Given the description of an element on the screen output the (x, y) to click on. 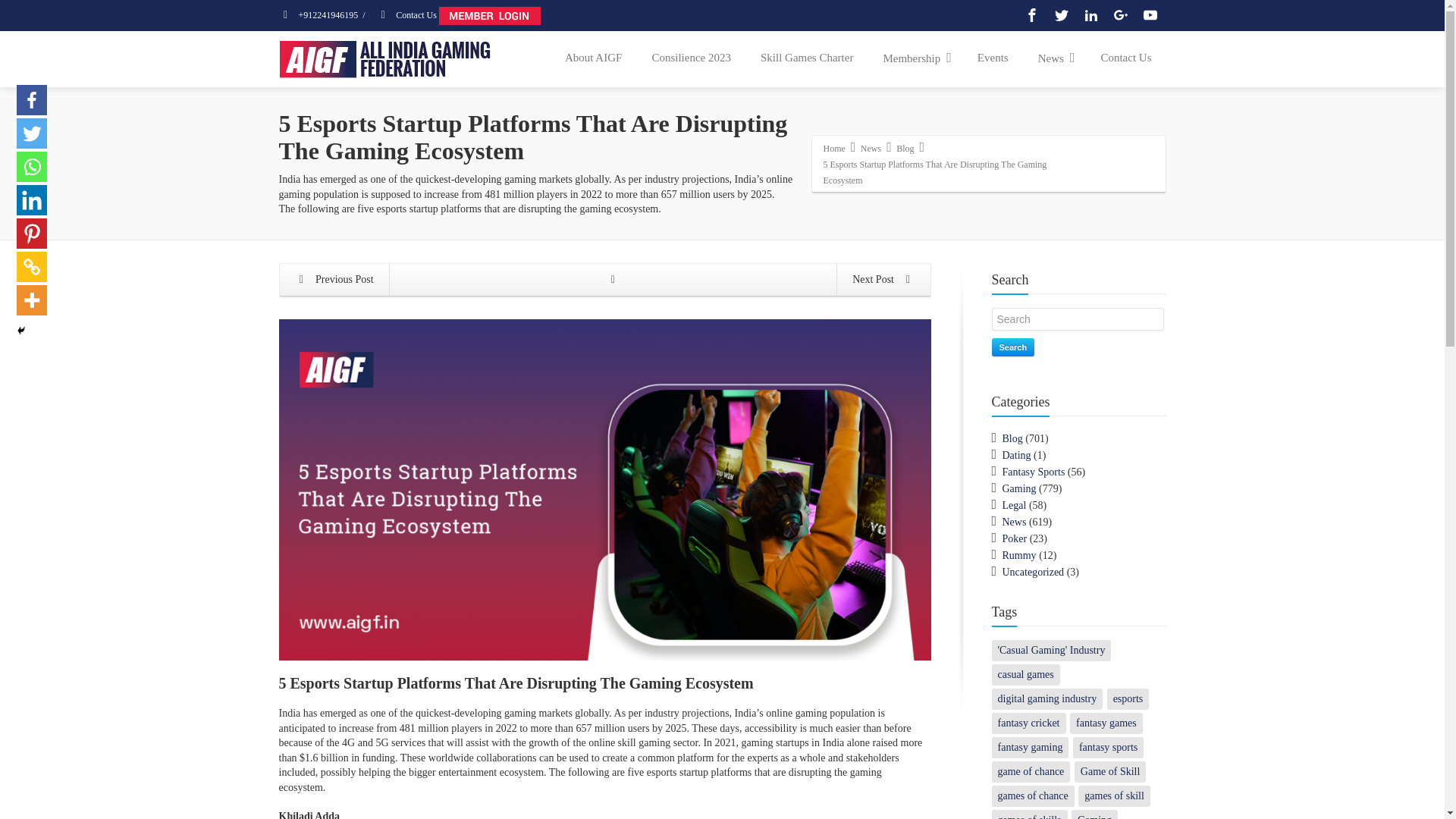
Youtube (1149, 15)
Contact Us (405, 14)
Pinterest (31, 233)
Facebook (1031, 15)
News (870, 147)
Events (992, 58)
Home (834, 147)
Membership (913, 58)
Whatsapp (31, 166)
Twitter (1061, 15)
